Given the description of an element on the screen output the (x, y) to click on. 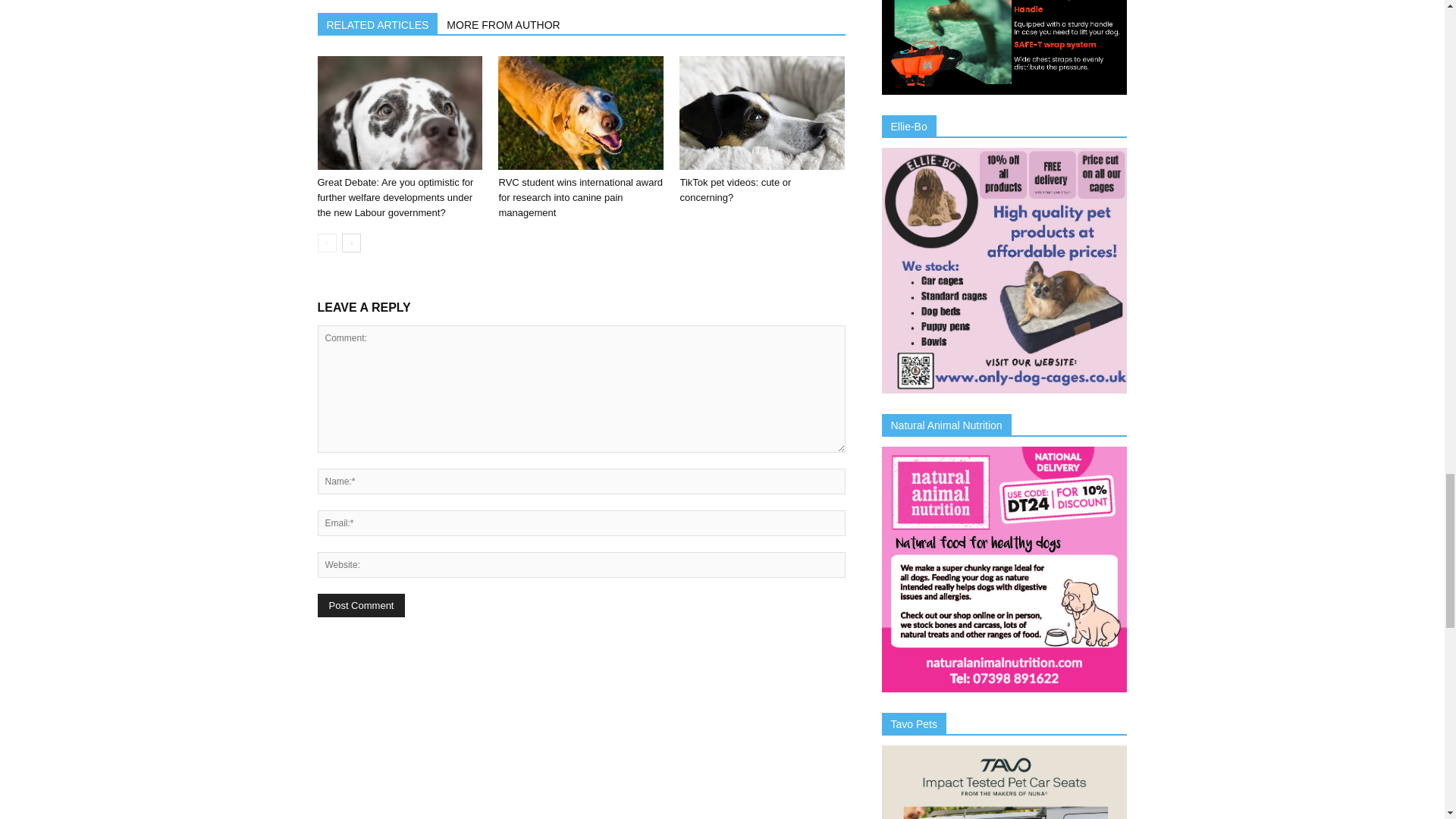
TikTok pet videos: cute or concerning? (761, 112)
Post Comment (360, 605)
TikTok pet videos: cute or concerning? (734, 189)
